Given the description of an element on the screen output the (x, y) to click on. 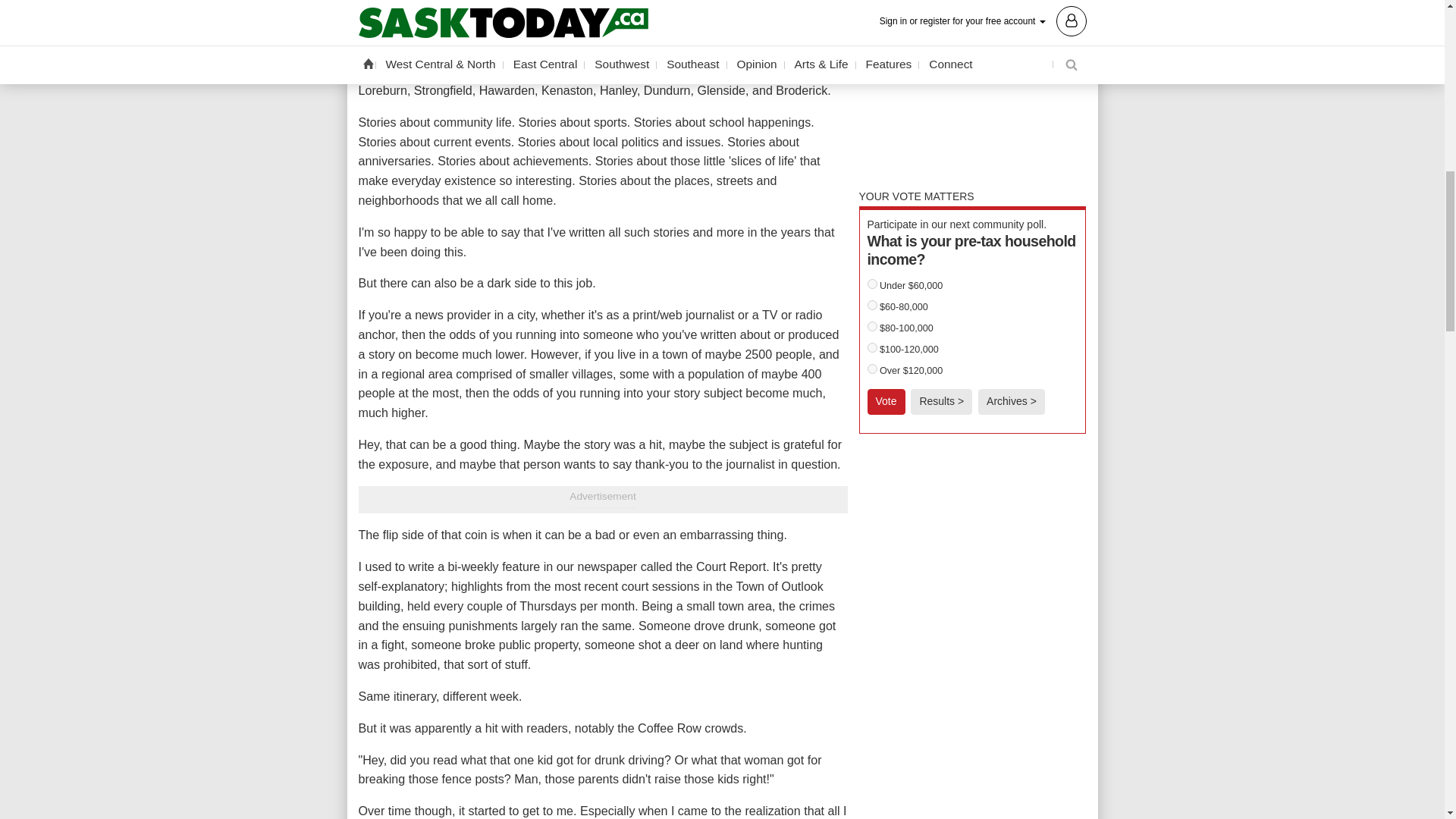
121933 (872, 326)
121932 (872, 305)
121935 (872, 368)
121934 (872, 347)
121931 (872, 284)
